Given the description of an element on the screen output the (x, y) to click on. 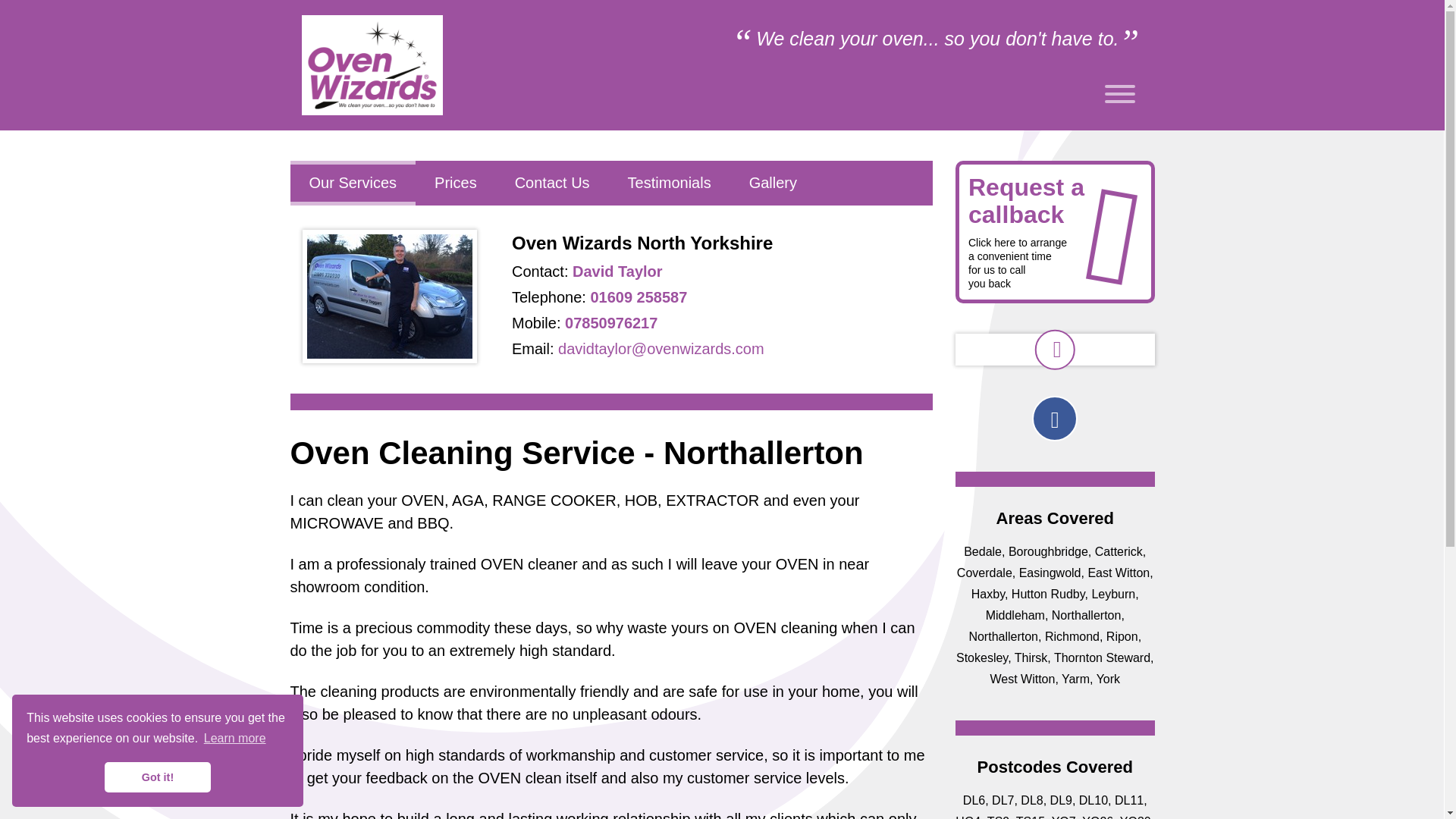
Testimonials (669, 182)
Contact Us (552, 182)
07850976217 (611, 322)
Learn more (234, 738)
Our Services (351, 182)
01609 258587 (638, 297)
Got it! (157, 777)
Toggle navigation (1119, 95)
Gallery (772, 182)
Prices (455, 182)
